Given the description of an element on the screen output the (x, y) to click on. 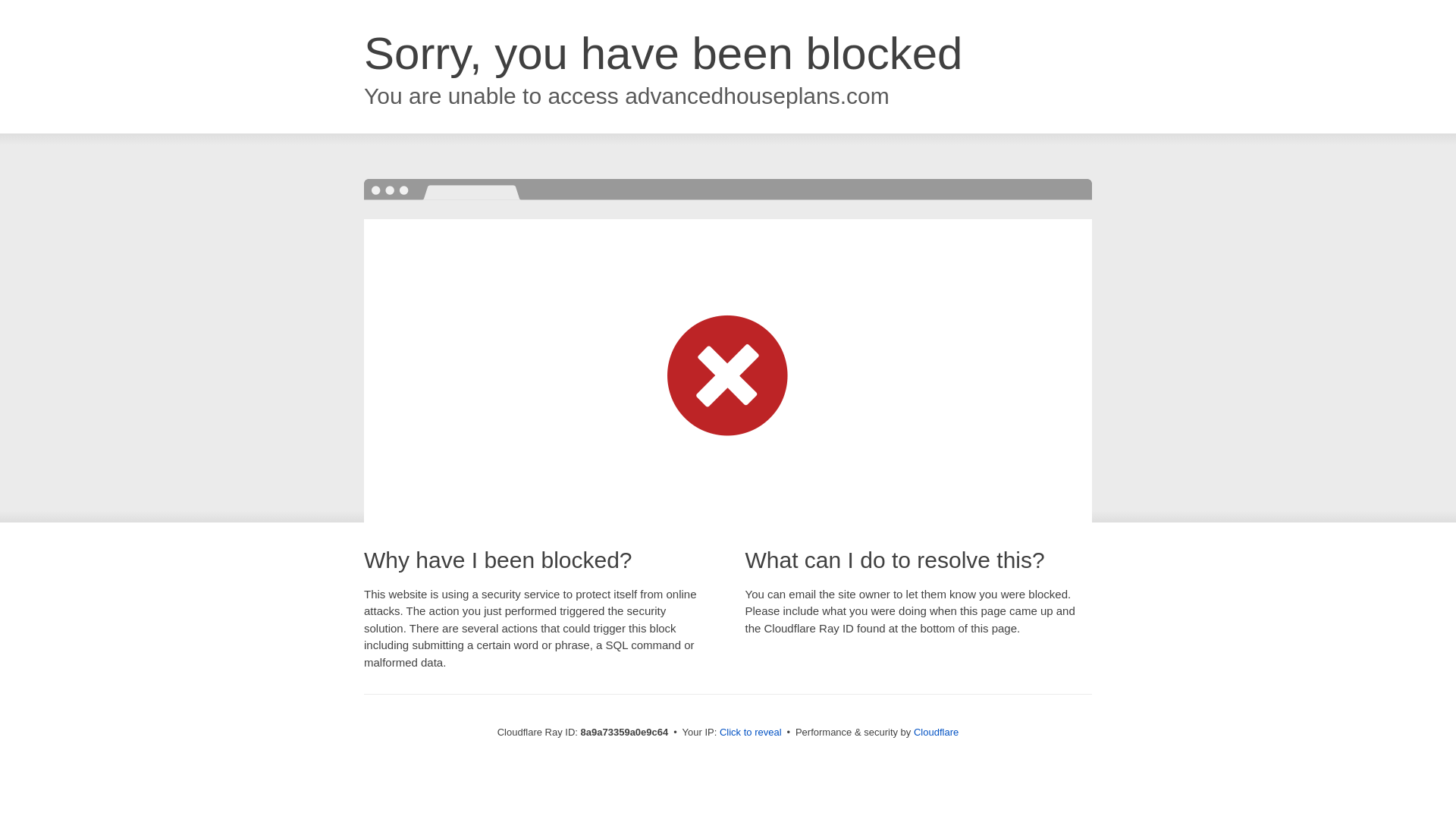
Click to reveal (750, 732)
Cloudflare (936, 731)
